Given the description of an element on the screen output the (x, y) to click on. 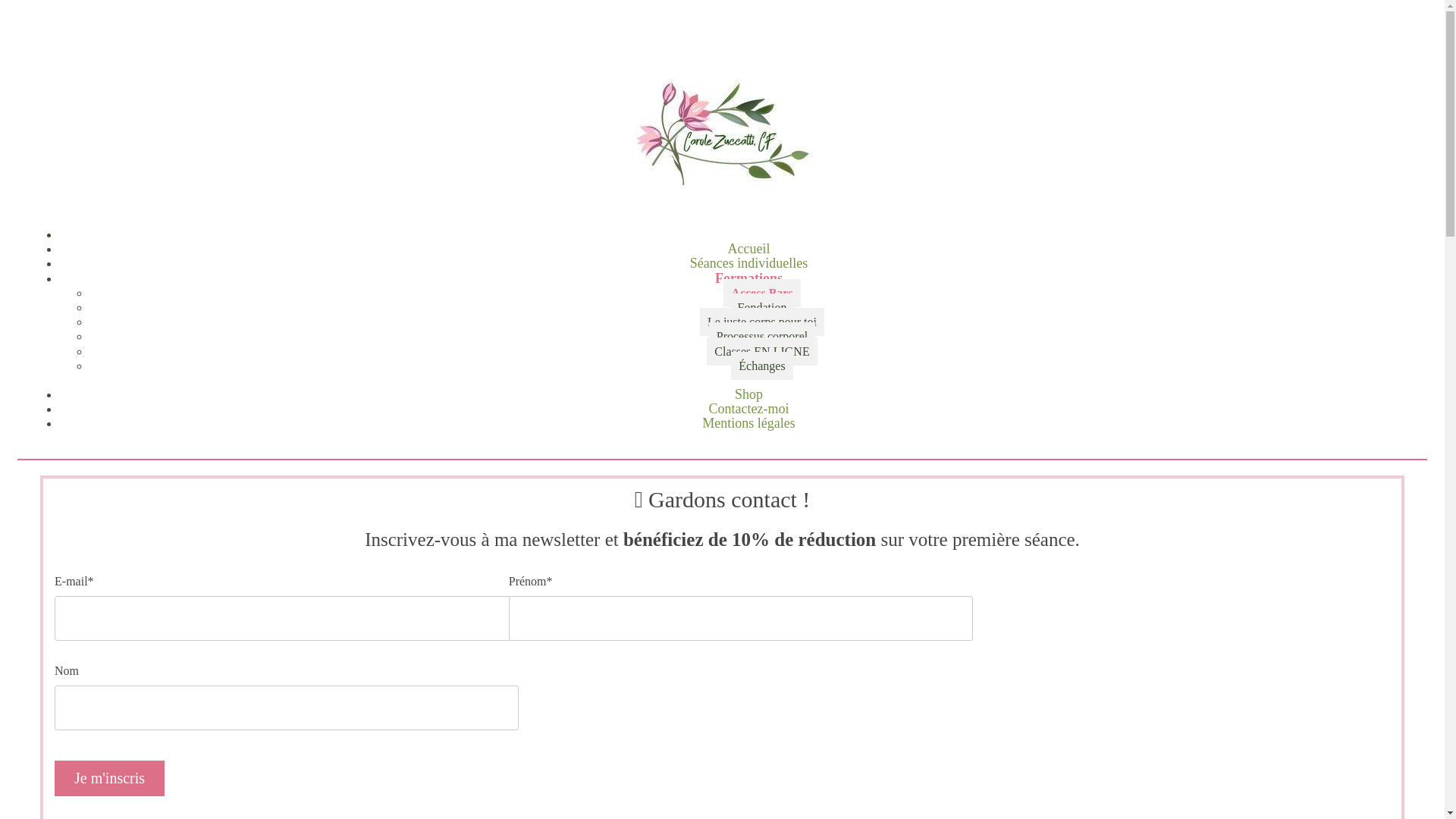
Formations Element type: text (748, 277)
Contactez-moi Element type: text (749, 408)
Classes EN LIGNE Element type: text (761, 350)
Close Menu Element type: hover (737, 234)
Le juste corps pour toi Element type: text (761, 321)
Je m'inscris Element type: text (109, 778)
Processus corporel Element type: text (762, 336)
Accueil Element type: text (749, 248)
Access Bars Element type: text (761, 293)
Fondation Element type: text (762, 307)
Shop Element type: text (748, 393)
